Given the description of an element on the screen output the (x, y) to click on. 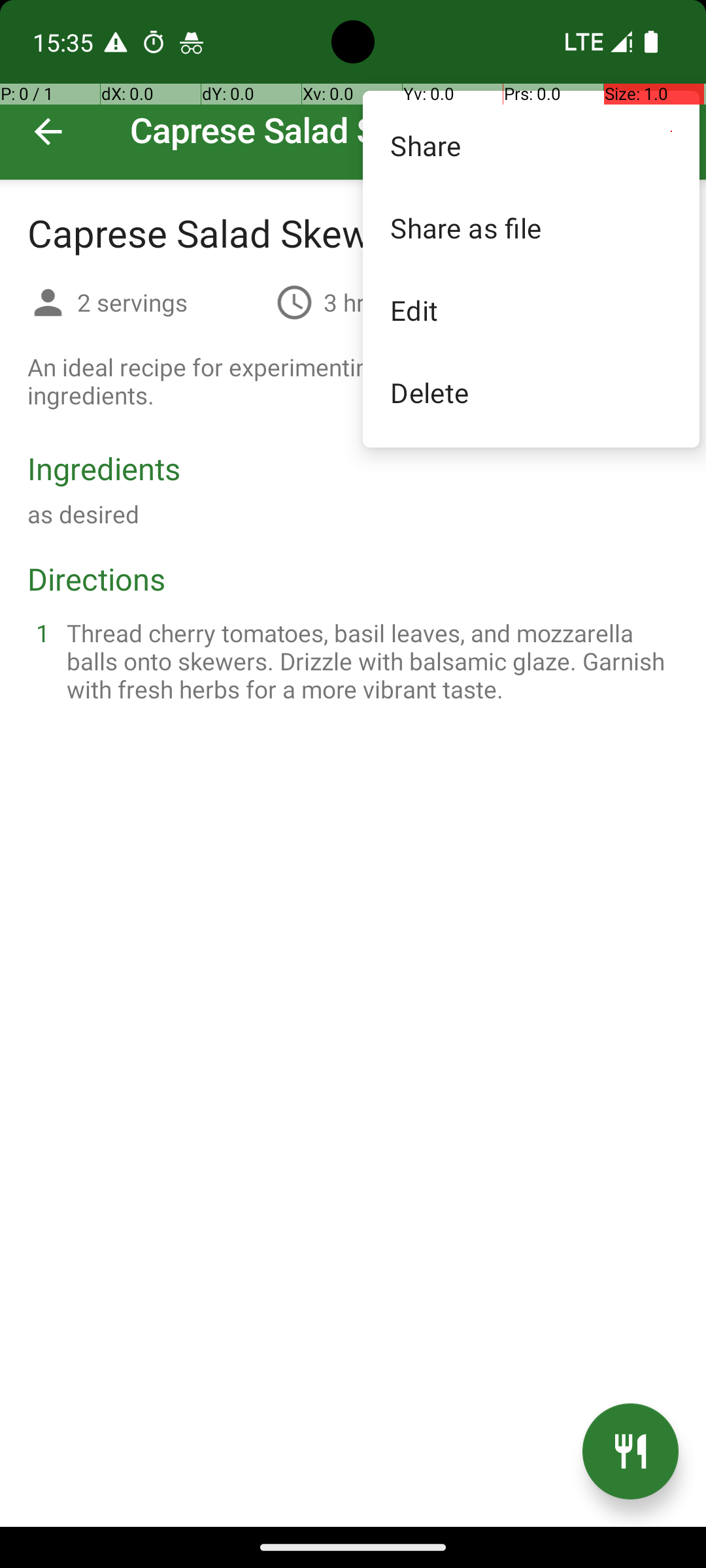
Share as file Element type: android.widget.TextView (531, 227)
Edit Element type: android.widget.TextView (531, 309)
